Given the description of an element on the screen output the (x, y) to click on. 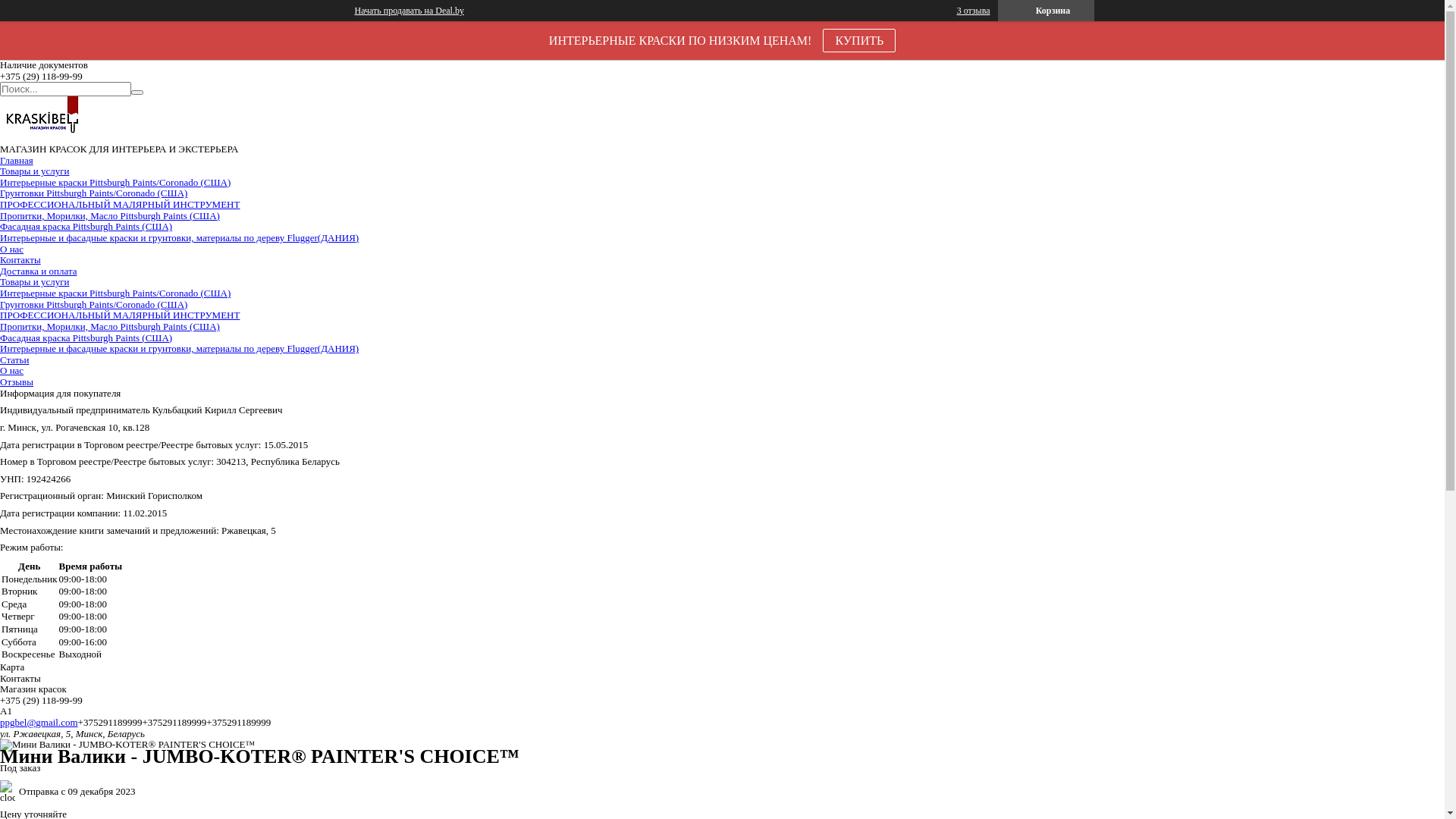
ppgbel@gmail.com Element type: text (39, 722)
